Given the description of an element on the screen output the (x, y) to click on. 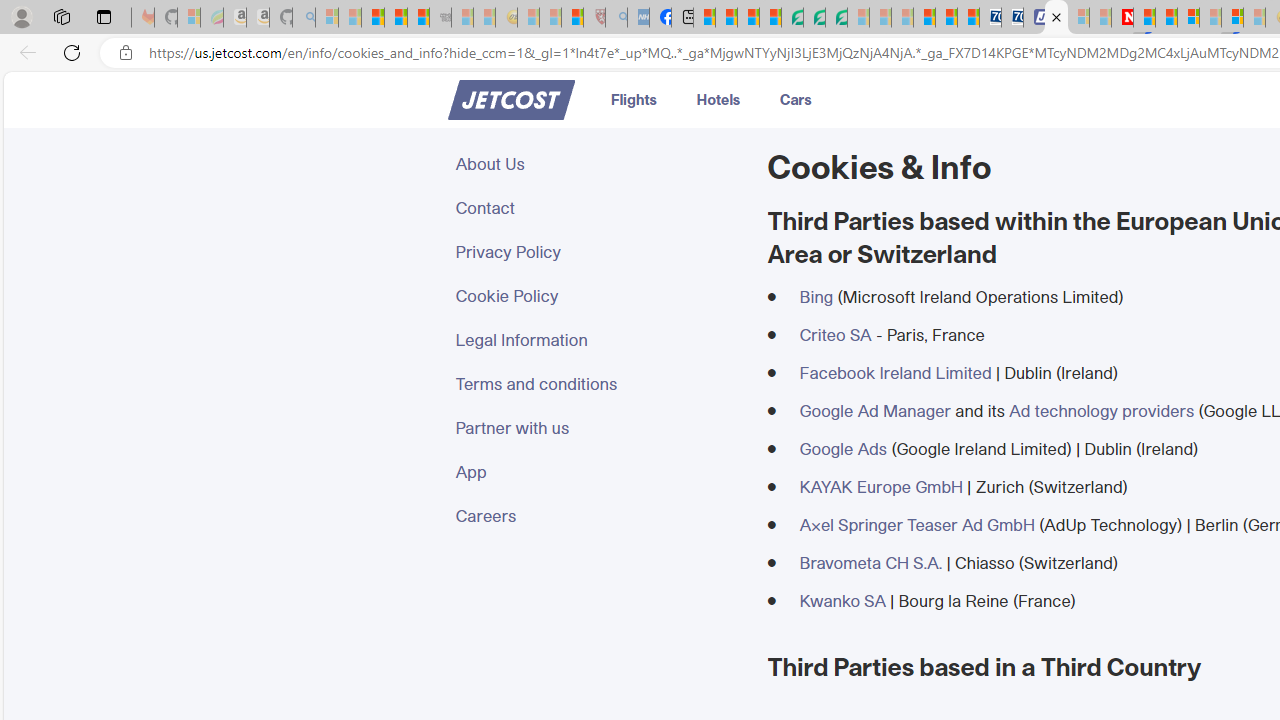
Kwanko SA (841, 600)
Class: no-underline cursor-pointer (510, 99)
Privacy Policy (599, 251)
Careers (599, 515)
Contact (599, 207)
About Us (599, 164)
Privacy Policy (599, 251)
About Us (599, 164)
